Given the description of an element on the screen output the (x, y) to click on. 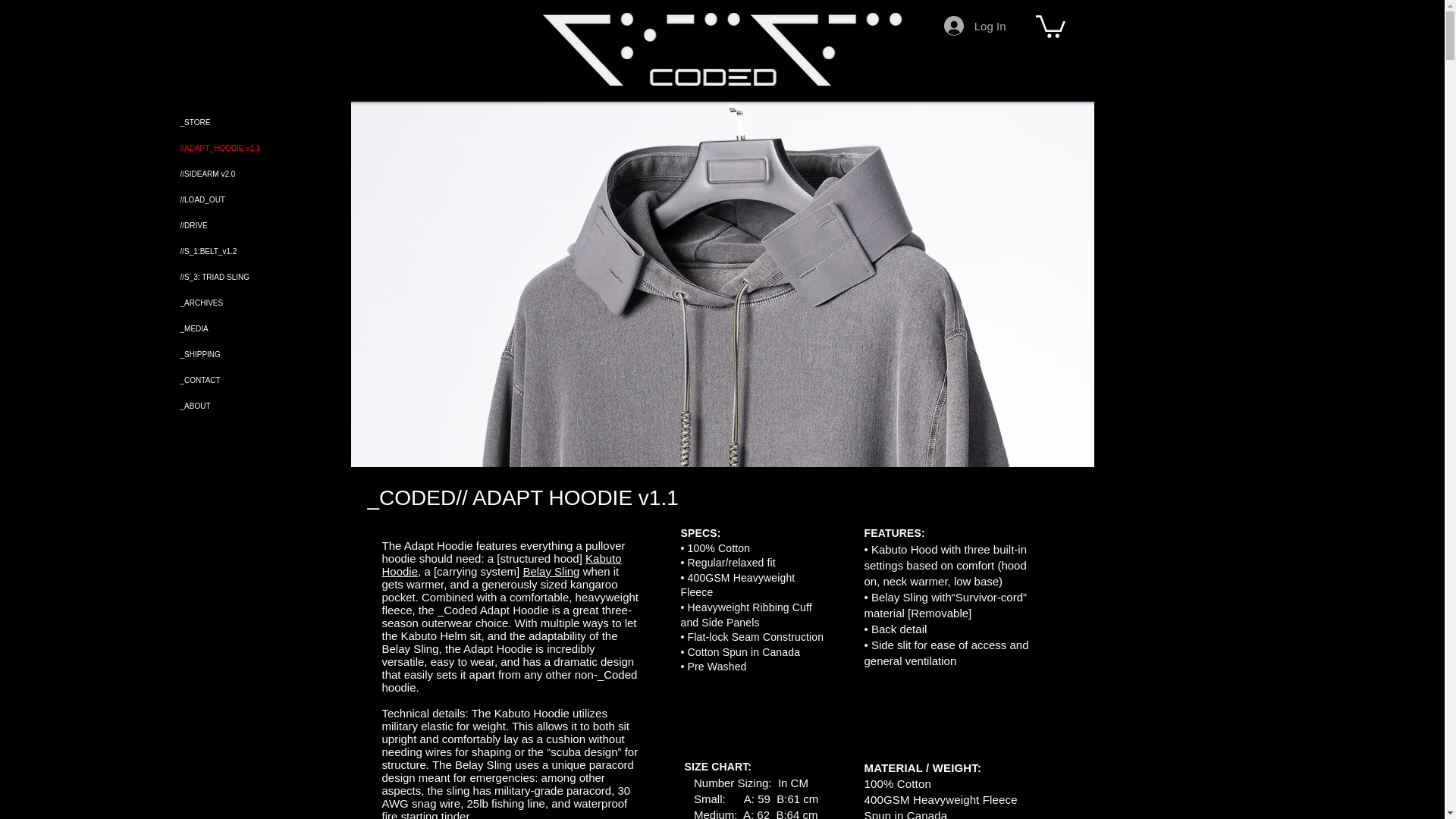
Log In (974, 25)
Belay Sling (550, 571)
Kabuto Hoodie (501, 565)
